Given the description of an element on the screen output the (x, y) to click on. 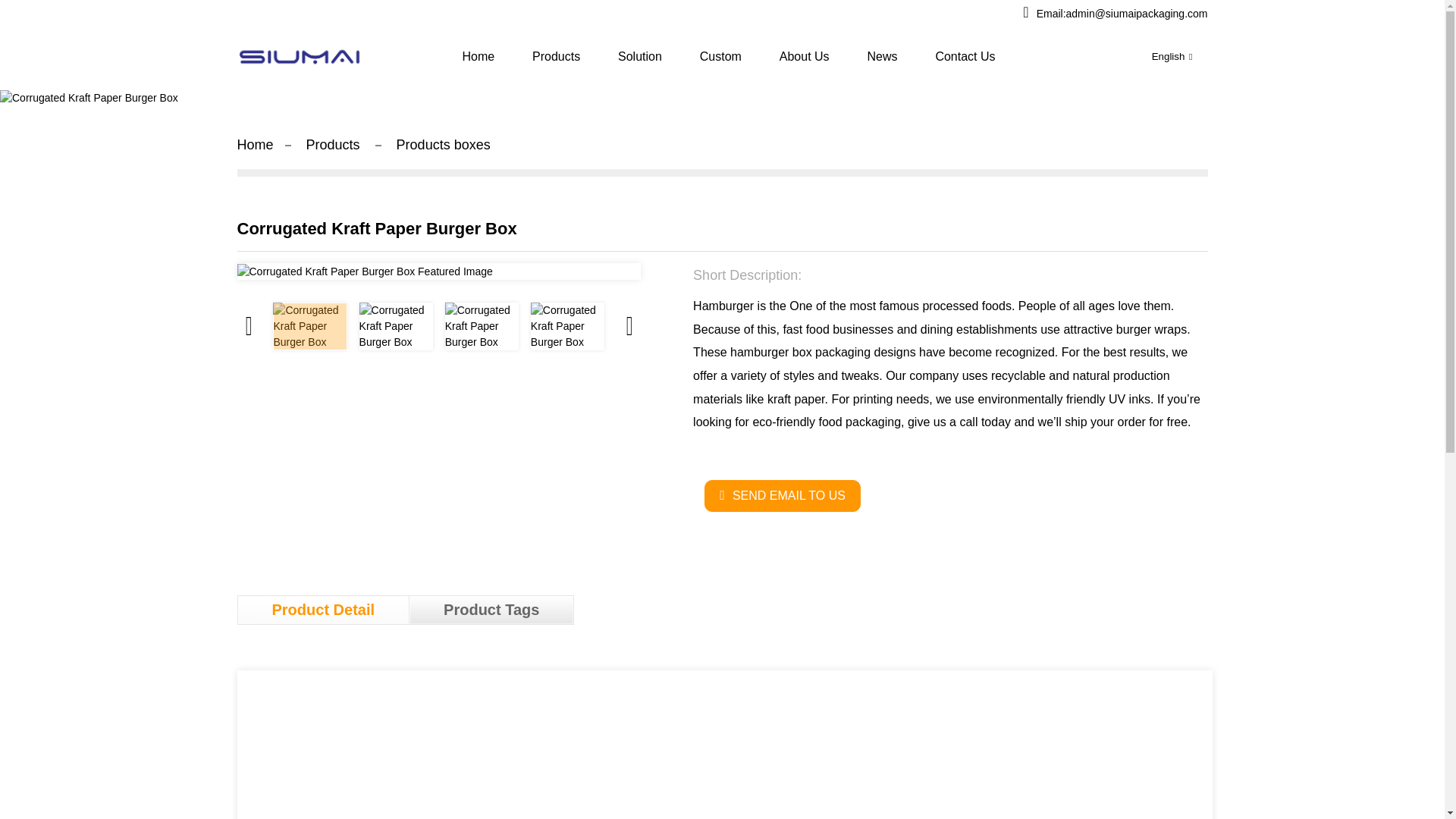
Products boxes (443, 144)
English (1159, 56)
Contact Us (964, 56)
Home (254, 144)
Products (556, 56)
Products boxes (443, 144)
Custom (720, 56)
Products (332, 144)
SEND EMAIL TO US (782, 495)
Solution (639, 56)
Products (332, 144)
About Us (804, 56)
